Given the description of an element on the screen output the (x, y) to click on. 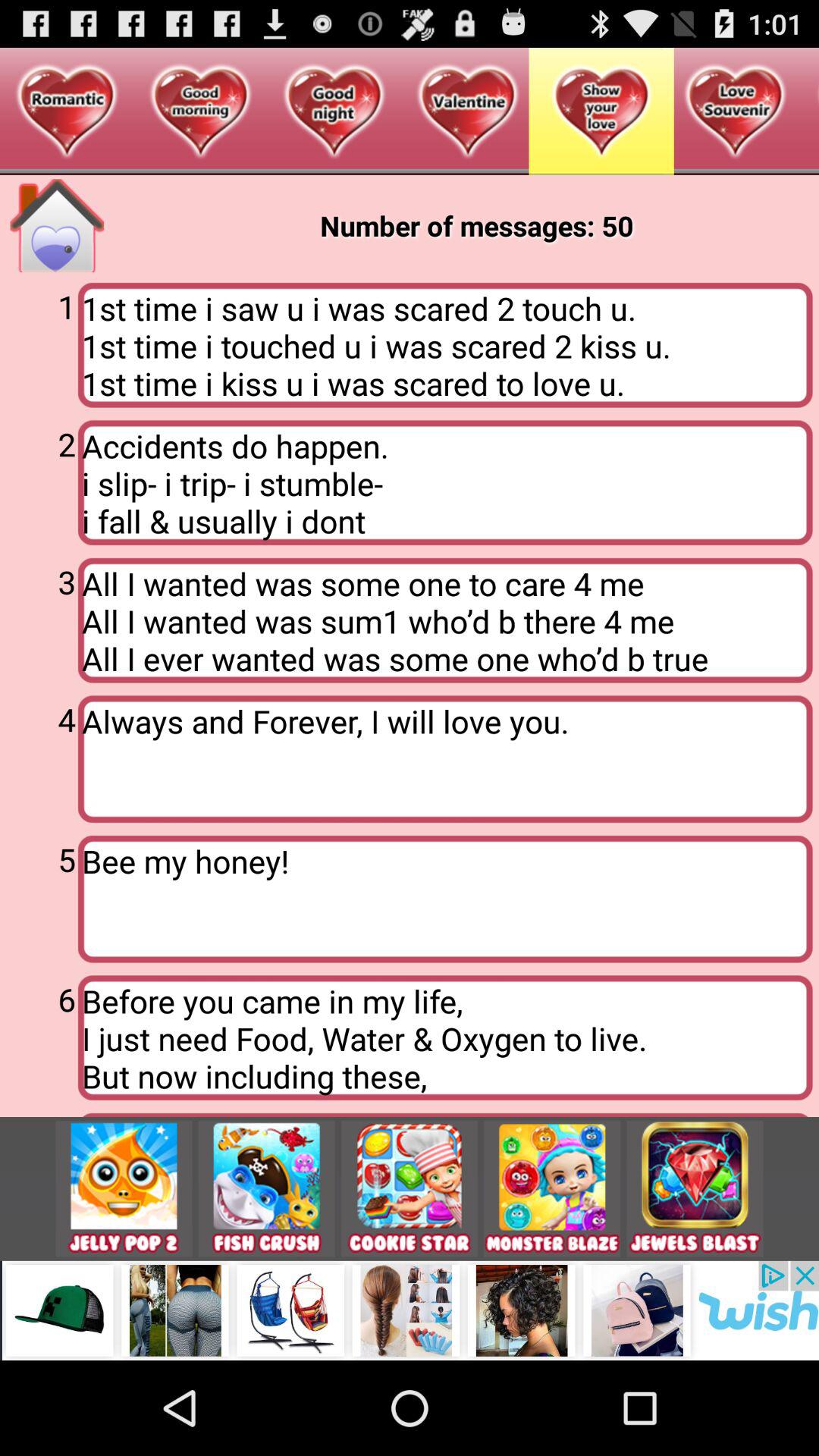
open fish crush game (266, 1188)
